Given the description of an element on the screen output the (x, y) to click on. 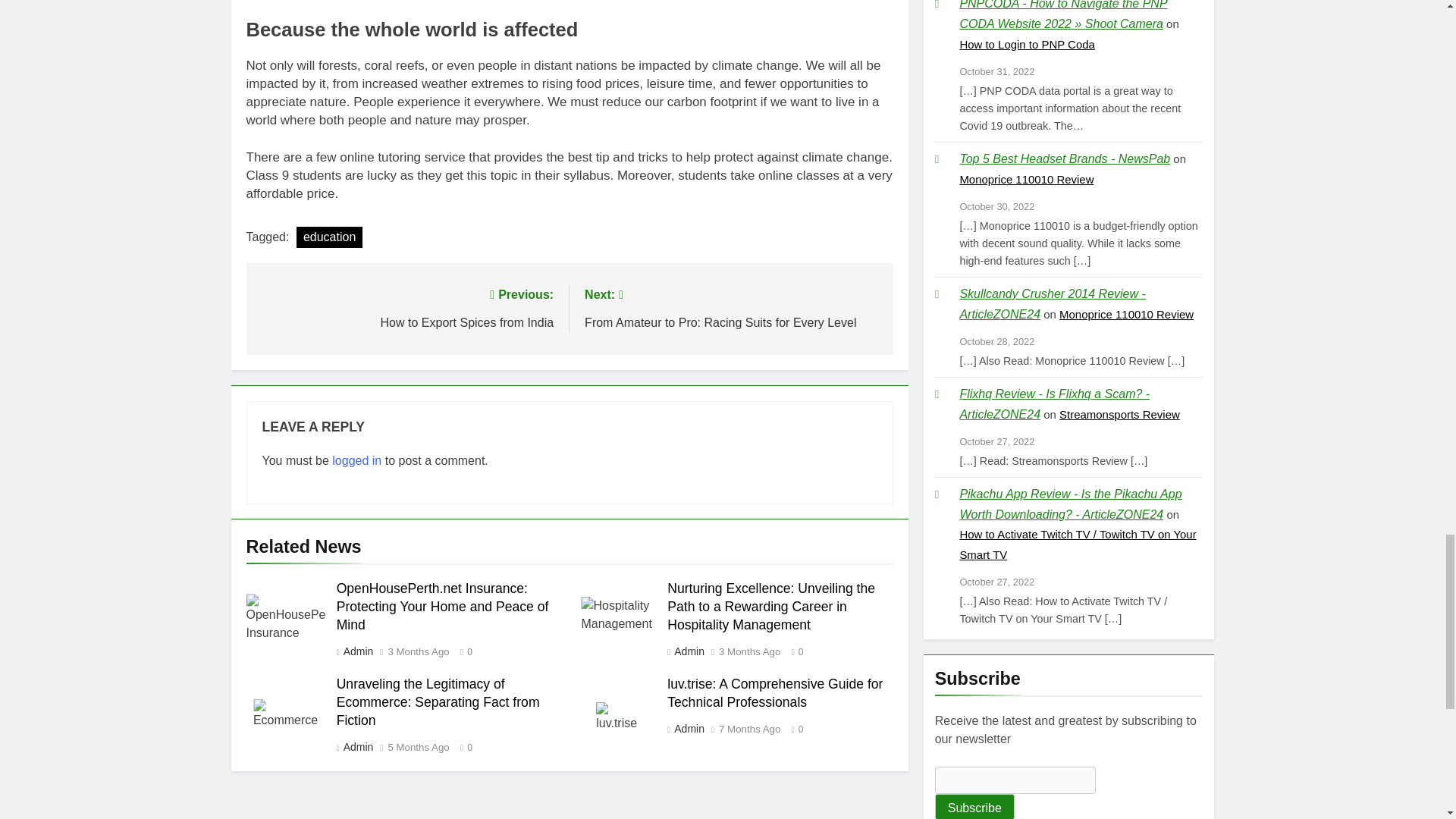
Subscribe (974, 806)
